Given the description of an element on the screen output the (x, y) to click on. 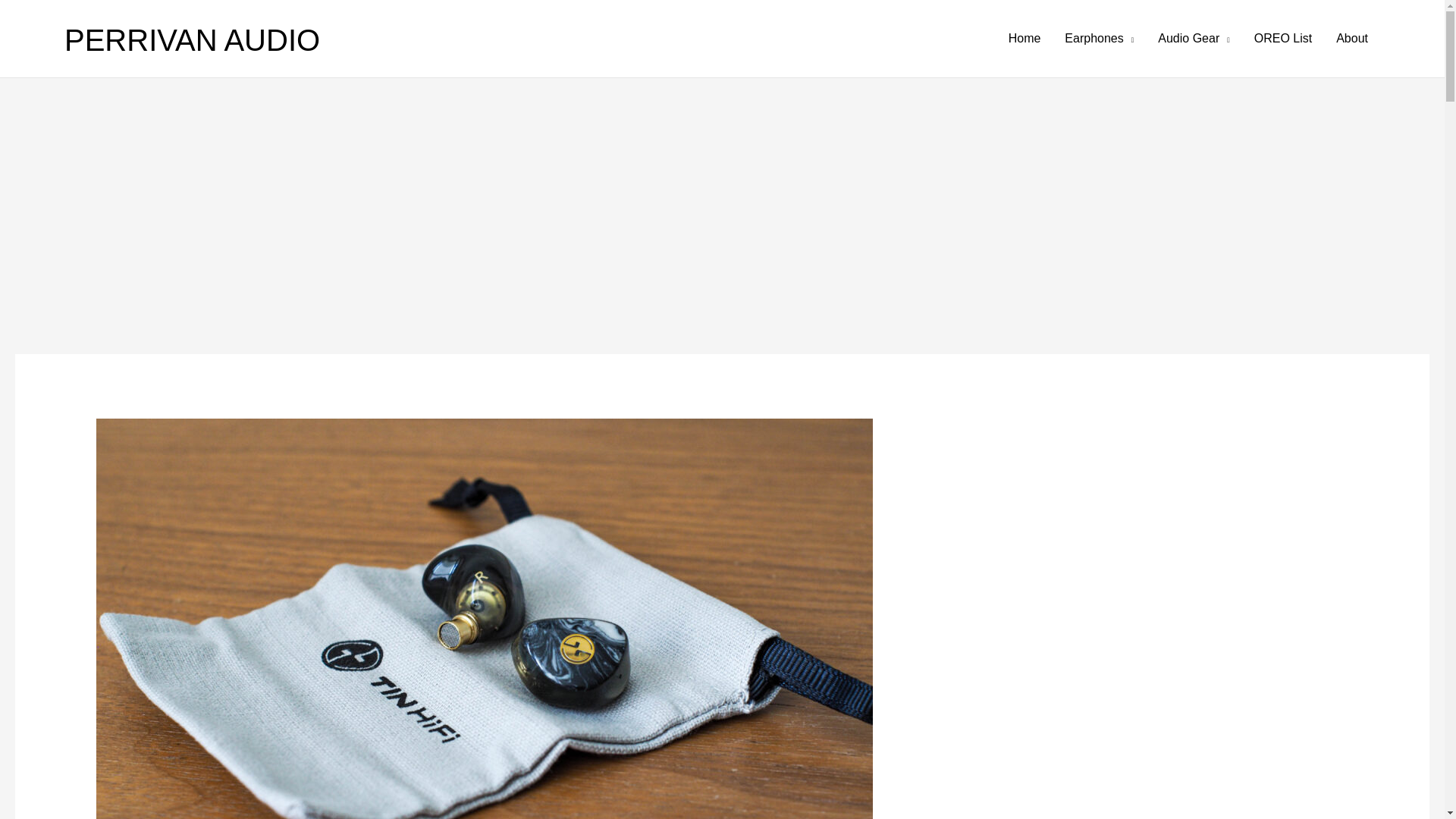
Home (1023, 38)
OREO List (1282, 38)
Earphones (1098, 38)
PERRIVAN AUDIO (192, 39)
About (1351, 38)
Audio Gear (1193, 38)
